Given the description of an element on the screen output the (x, y) to click on. 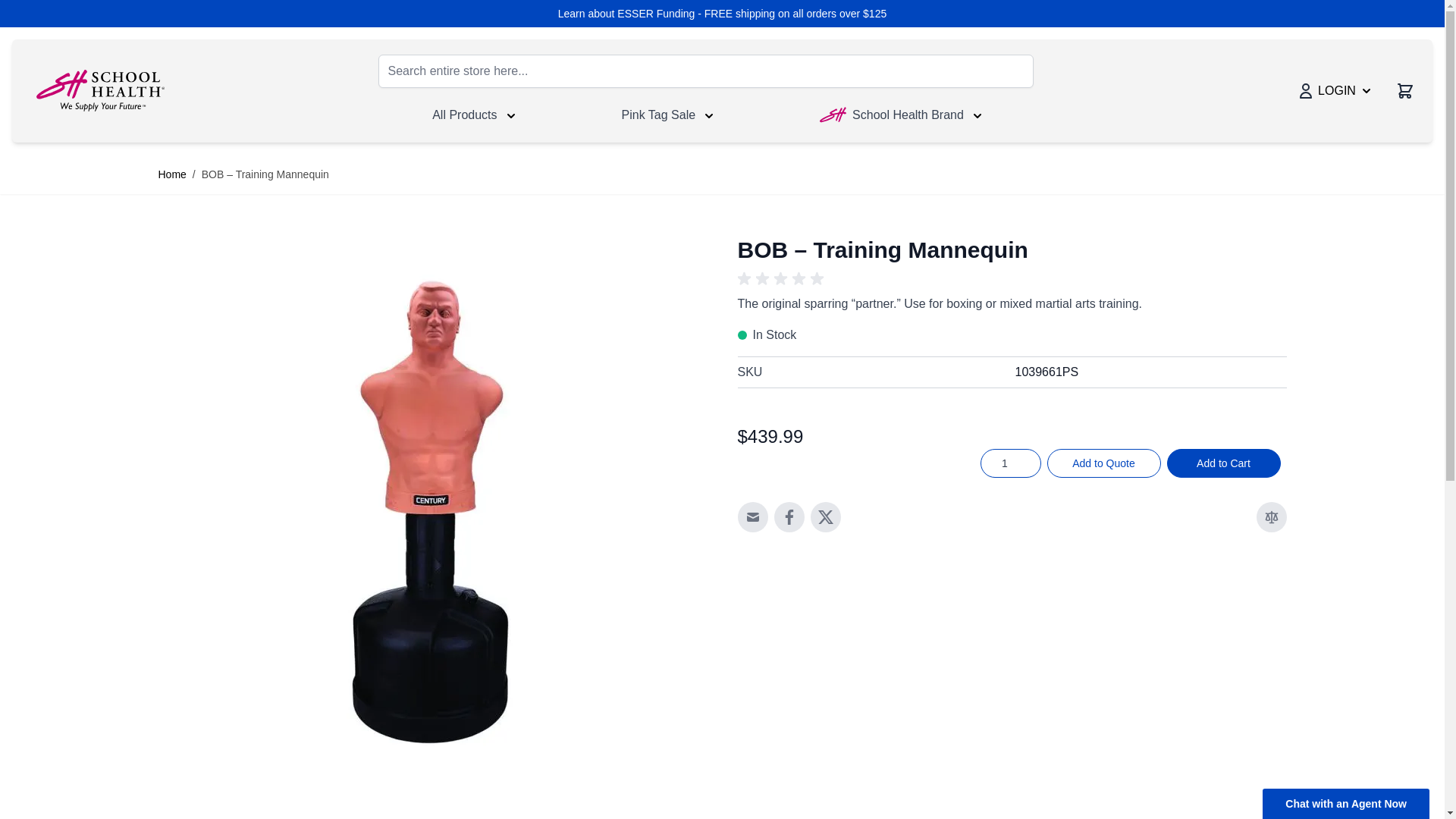
1 (1010, 462)
